Given the description of an element on the screen output the (x, y) to click on. 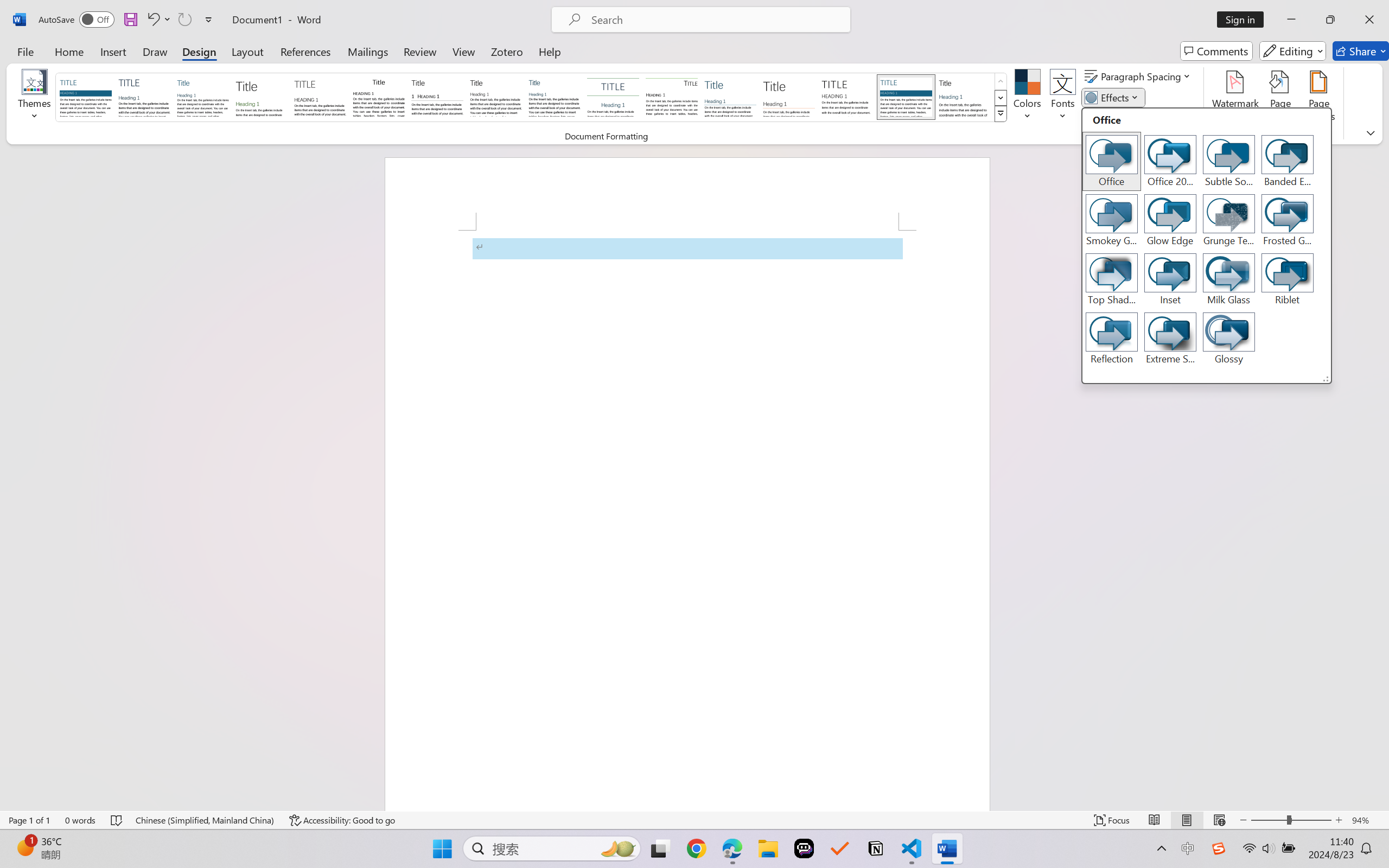
Sign in (1244, 19)
